Given the description of an element on the screen output the (x, y) to click on. 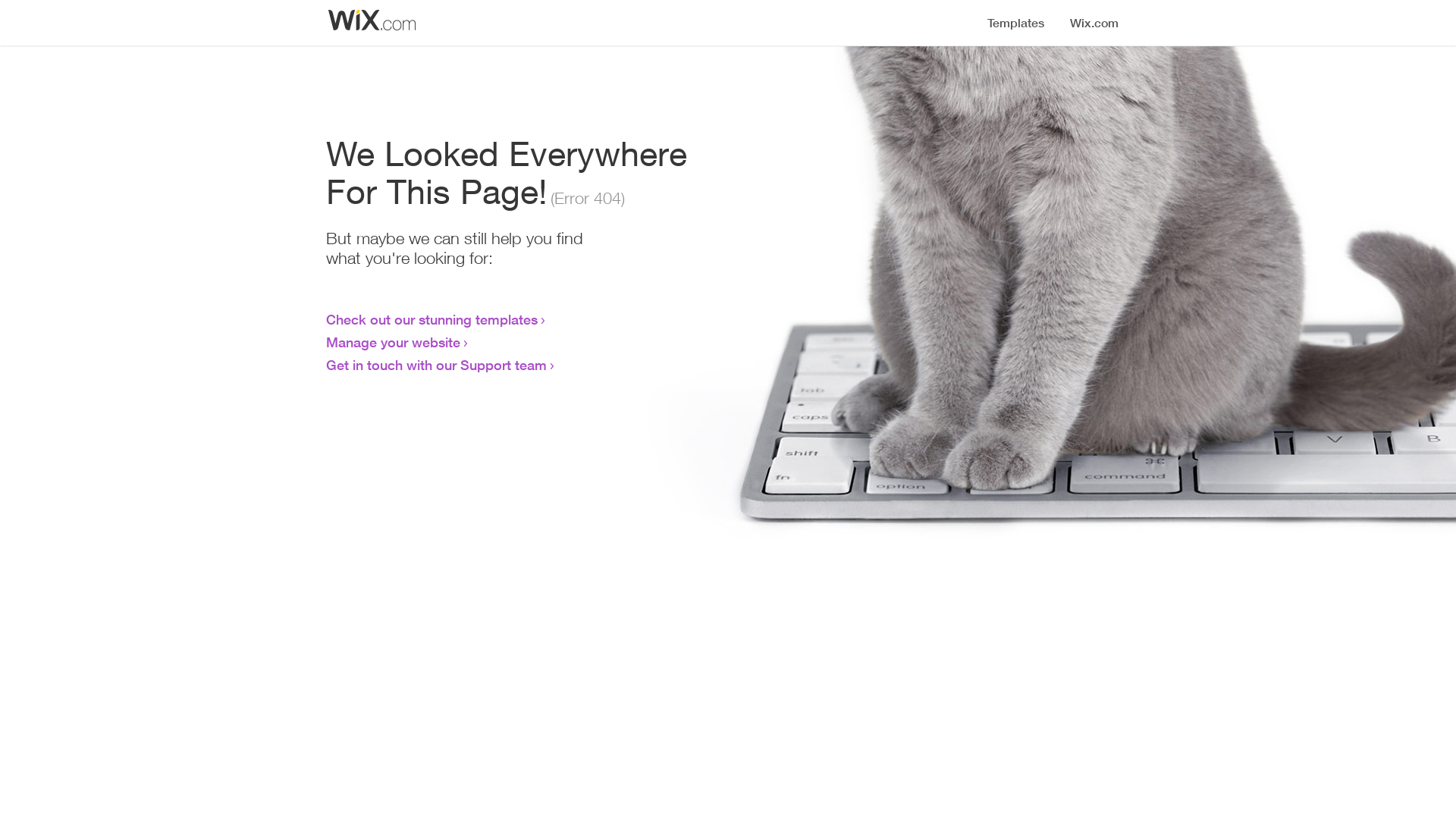
Get in touch with our Support team Element type: text (436, 364)
Manage your website Element type: text (393, 341)
Check out our stunning templates Element type: text (431, 318)
